Given the description of an element on the screen output the (x, y) to click on. 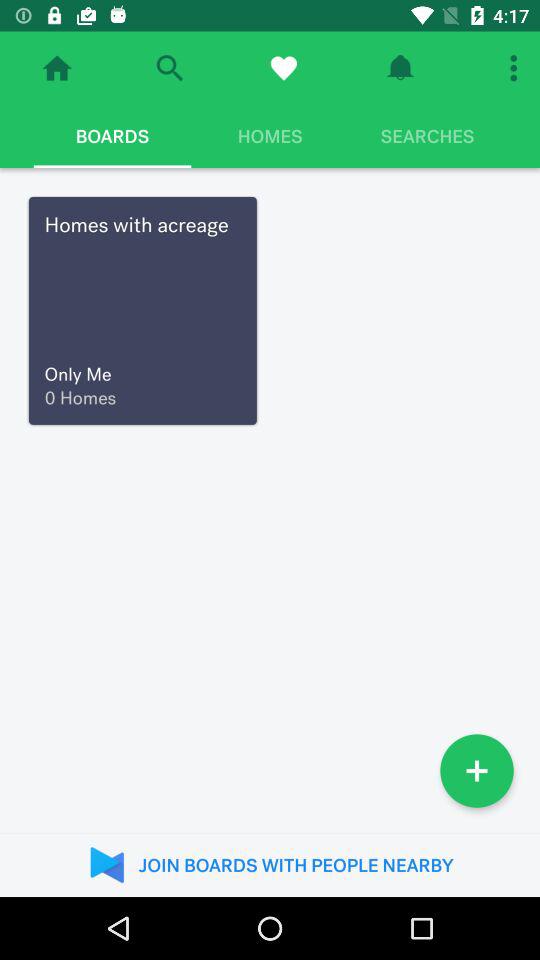
notifications (400, 68)
